Given the description of an element on the screen output the (x, y) to click on. 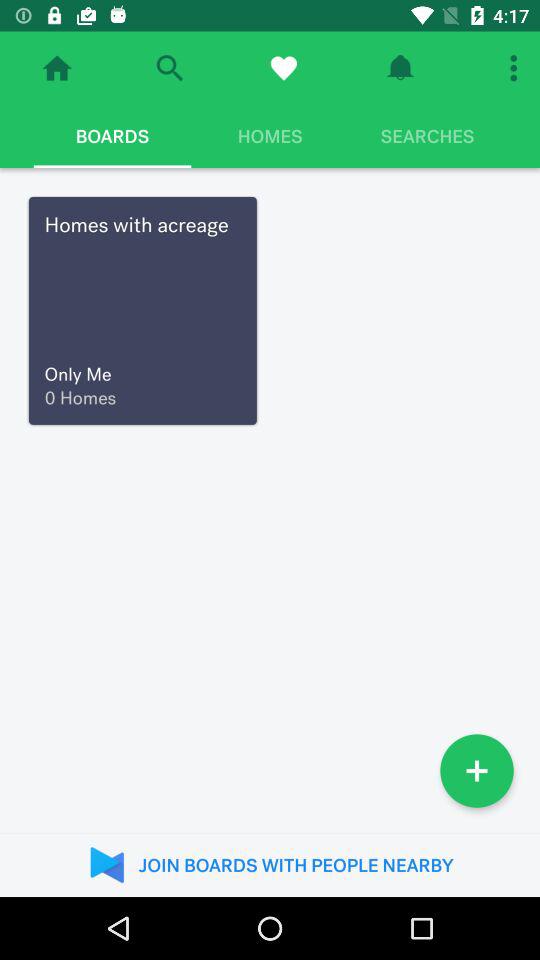
notifications (400, 68)
